Given the description of an element on the screen output the (x, y) to click on. 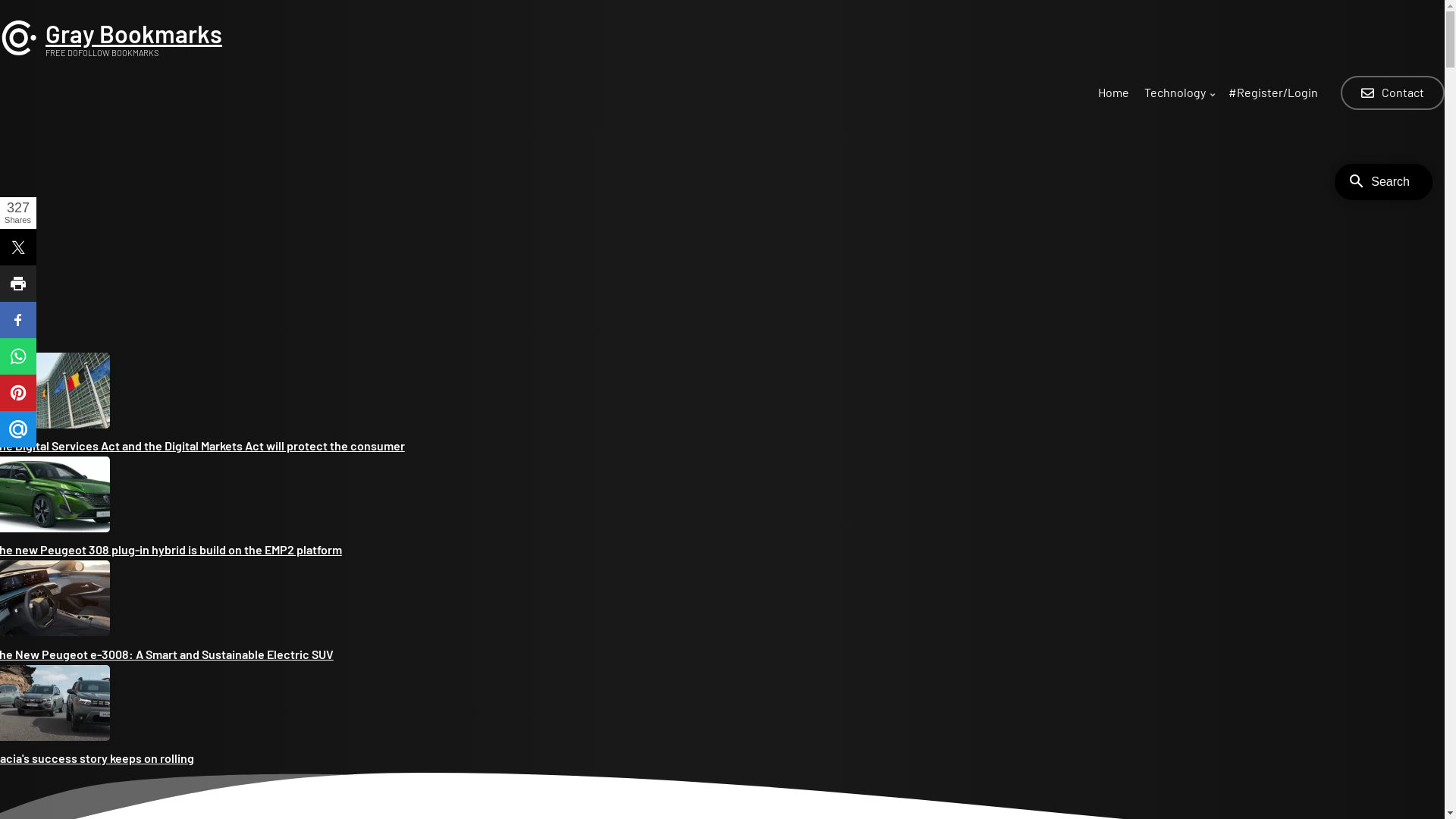
Contact Element type: text (1392, 92)
#Register/Login Element type: text (1272, 96)
Gray Bookmarks Element type: text (133, 32)
Home Element type: hover (18, 51)
Skip to main content Element type: text (0, 0)
Home Element type: text (1113, 96)
